Given the description of an element on the screen output the (x, y) to click on. 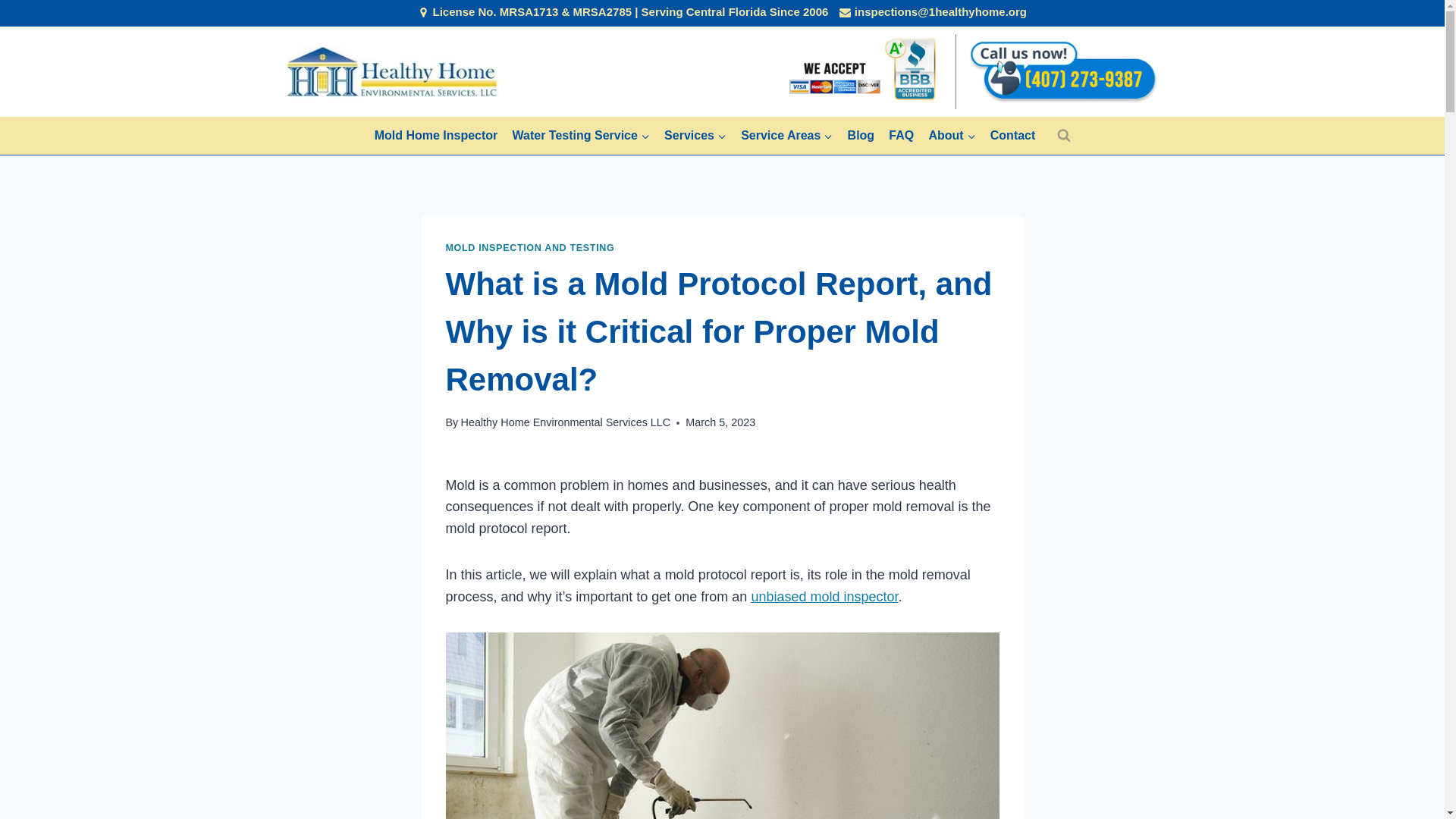
Contact (1012, 135)
MOLD INSPECTION AND TESTING (529, 247)
Mold Home Inspector (435, 135)
Water Testing Service (581, 135)
Service Areas (786, 135)
FAQ (901, 135)
Healthy Home Environmental Services LLC (564, 422)
About (951, 135)
Blog (861, 135)
Services (694, 135)
unbiased mold inspector (824, 596)
